Given the description of an element on the screen output the (x, y) to click on. 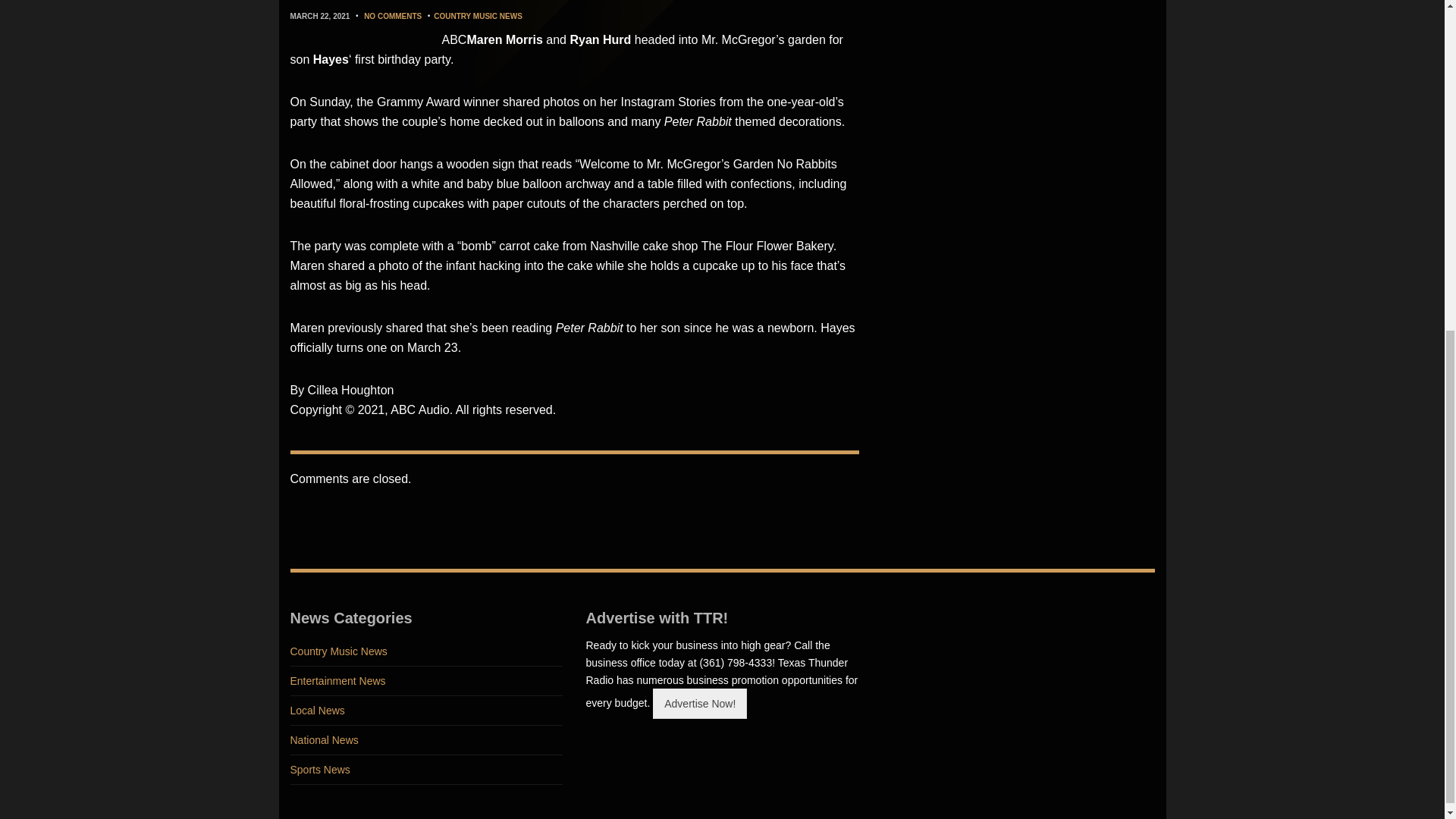
NO COMMENTS (393, 16)
Advertise Now! (699, 703)
Entertainment News (425, 681)
Advertise Now! (699, 702)
Local News (425, 710)
Country Music News (425, 651)
National News (425, 740)
Sports News (425, 769)
COUNTRY MUSIC NEWS (477, 16)
